Given the description of an element on the screen output the (x, y) to click on. 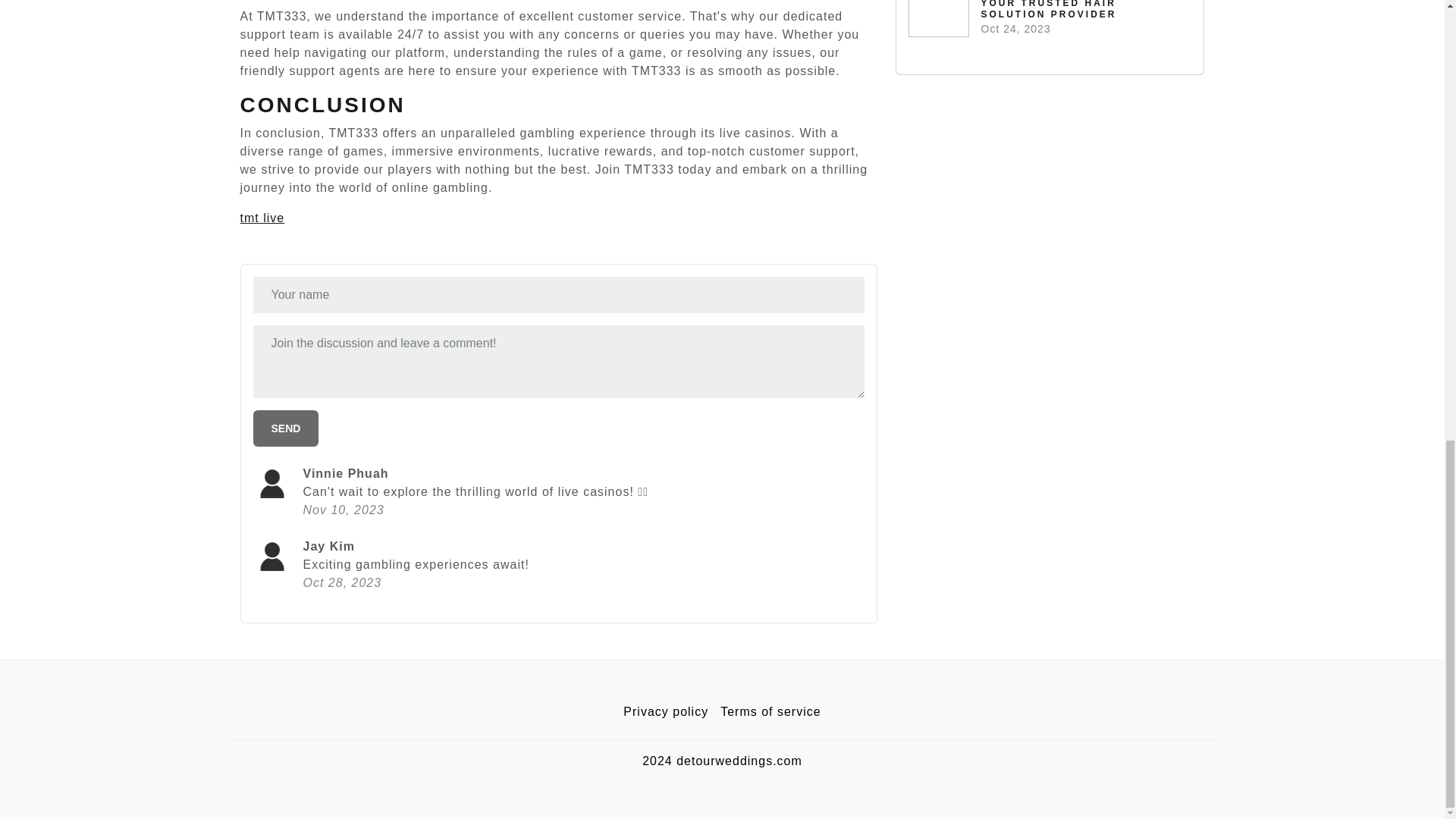
Send (285, 428)
Send (285, 428)
tmt live (261, 217)
Privacy policy (665, 711)
Terms of service (770, 711)
